Given the description of an element on the screen output the (x, y) to click on. 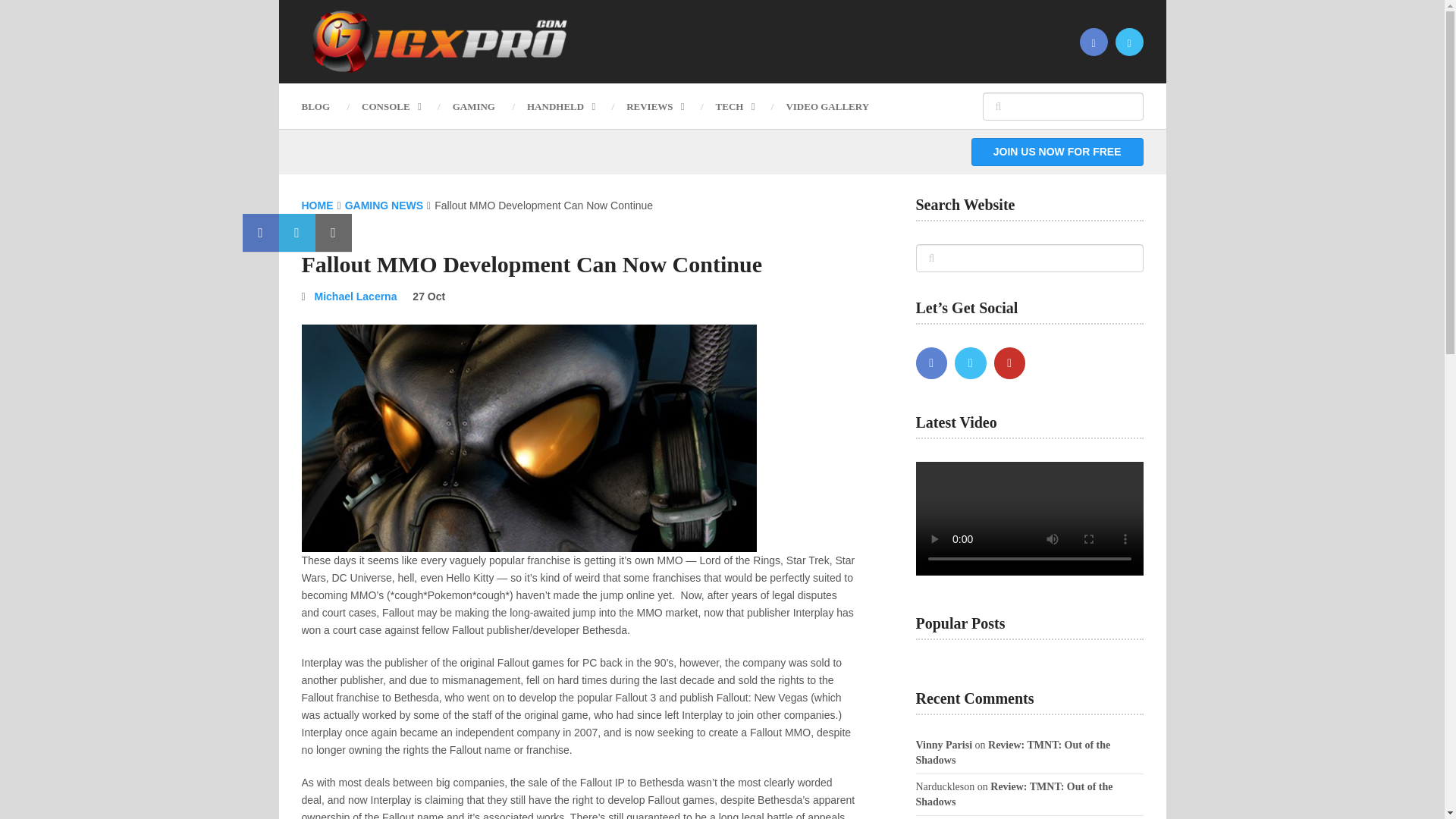
VIDEO GALLERY (827, 105)
YouTube (1008, 363)
Join Us Now For Free (1056, 152)
TECH (735, 105)
GAMING (473, 105)
CONSOLE (391, 105)
JOIN US NOW FOR FREE (1056, 152)
Michael Lacerna (355, 296)
GAMING NEWS (384, 205)
Twitter (971, 363)
